Given the description of an element on the screen output the (x, y) to click on. 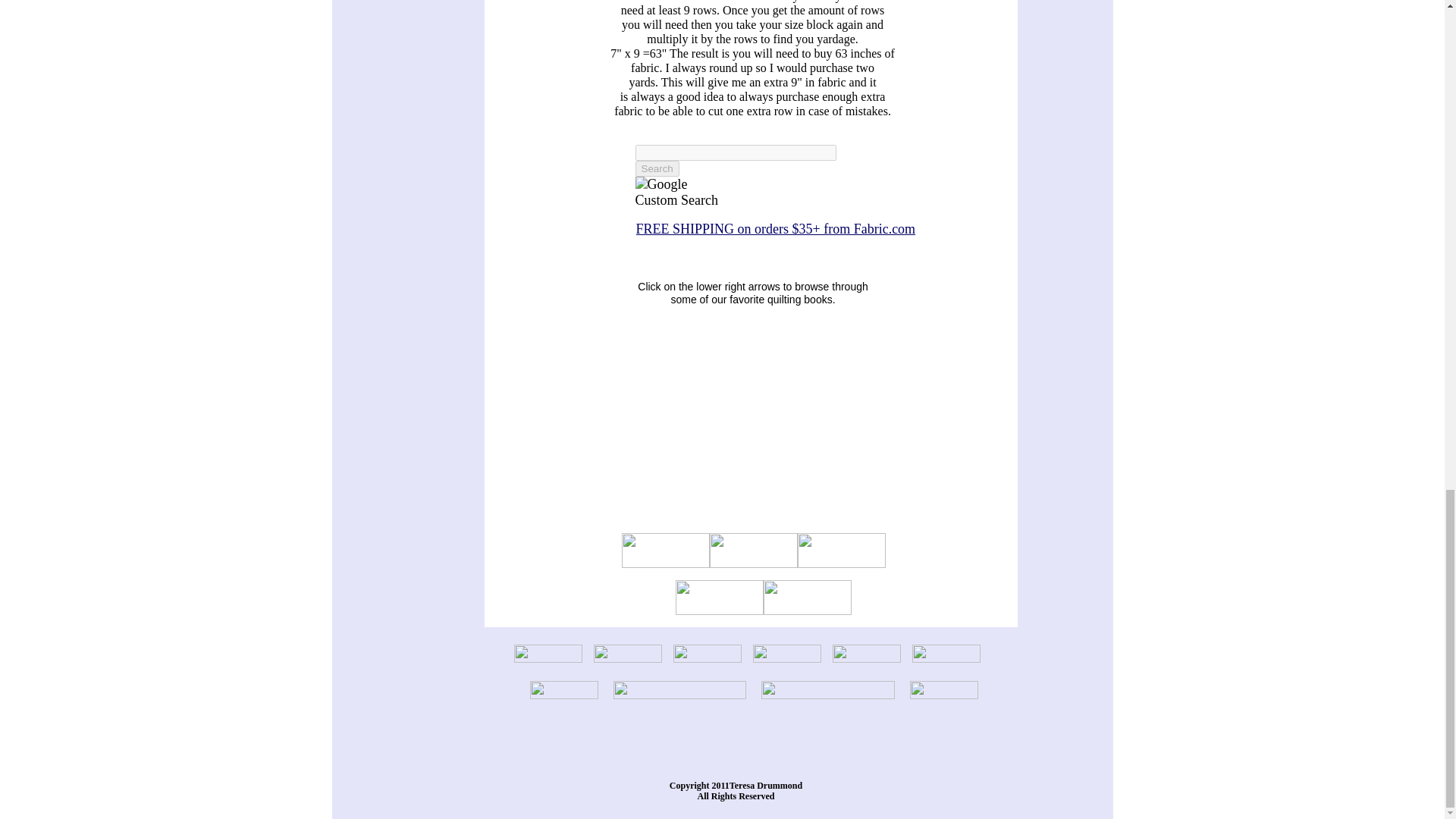
Search (656, 168)
Search (656, 168)
